Given the description of an element on the screen output the (x, y) to click on. 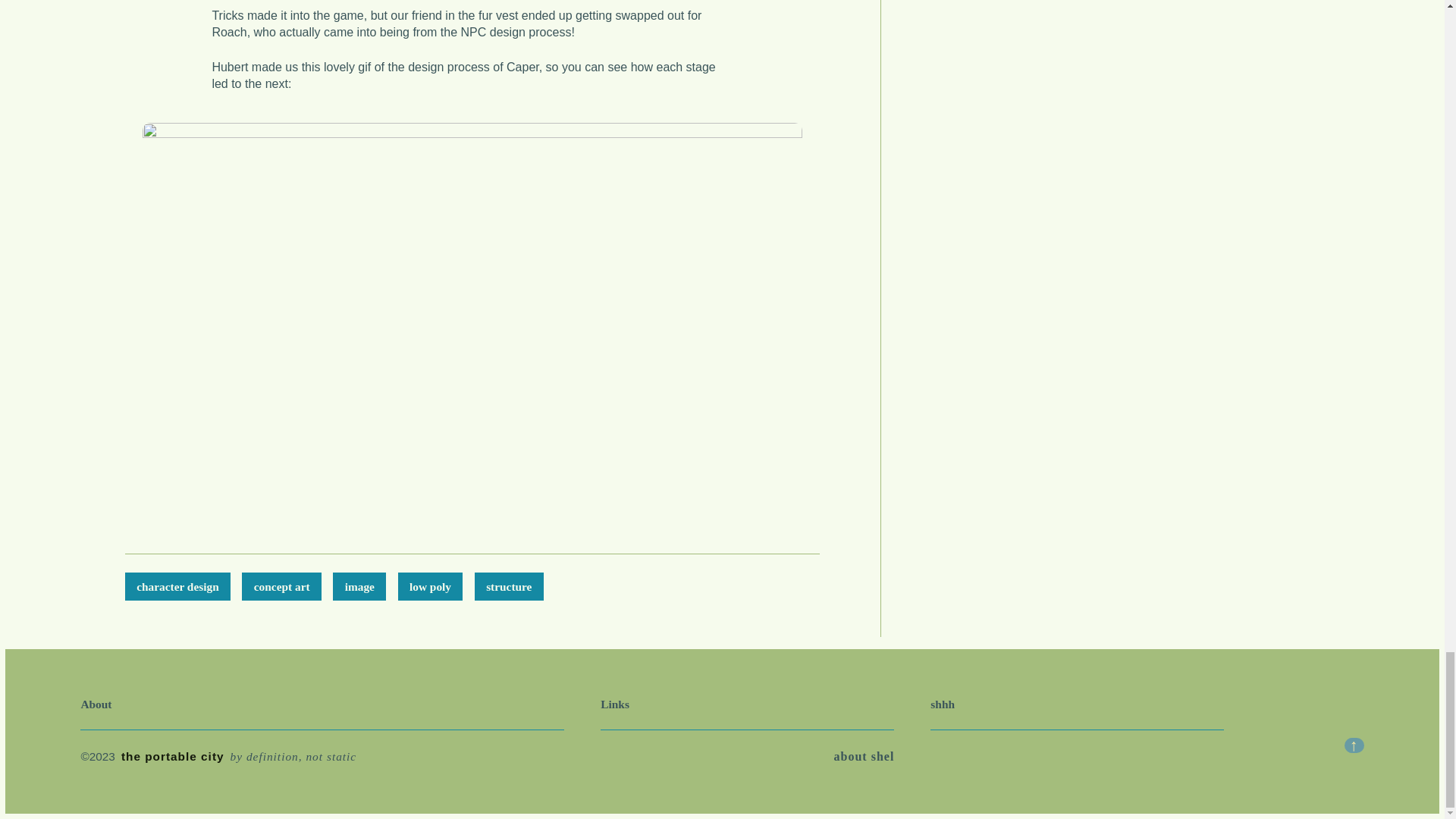
low poly (430, 585)
structure (508, 585)
character design (177, 585)
image (359, 585)
concept art (281, 585)
